Given the description of an element on the screen output the (x, y) to click on. 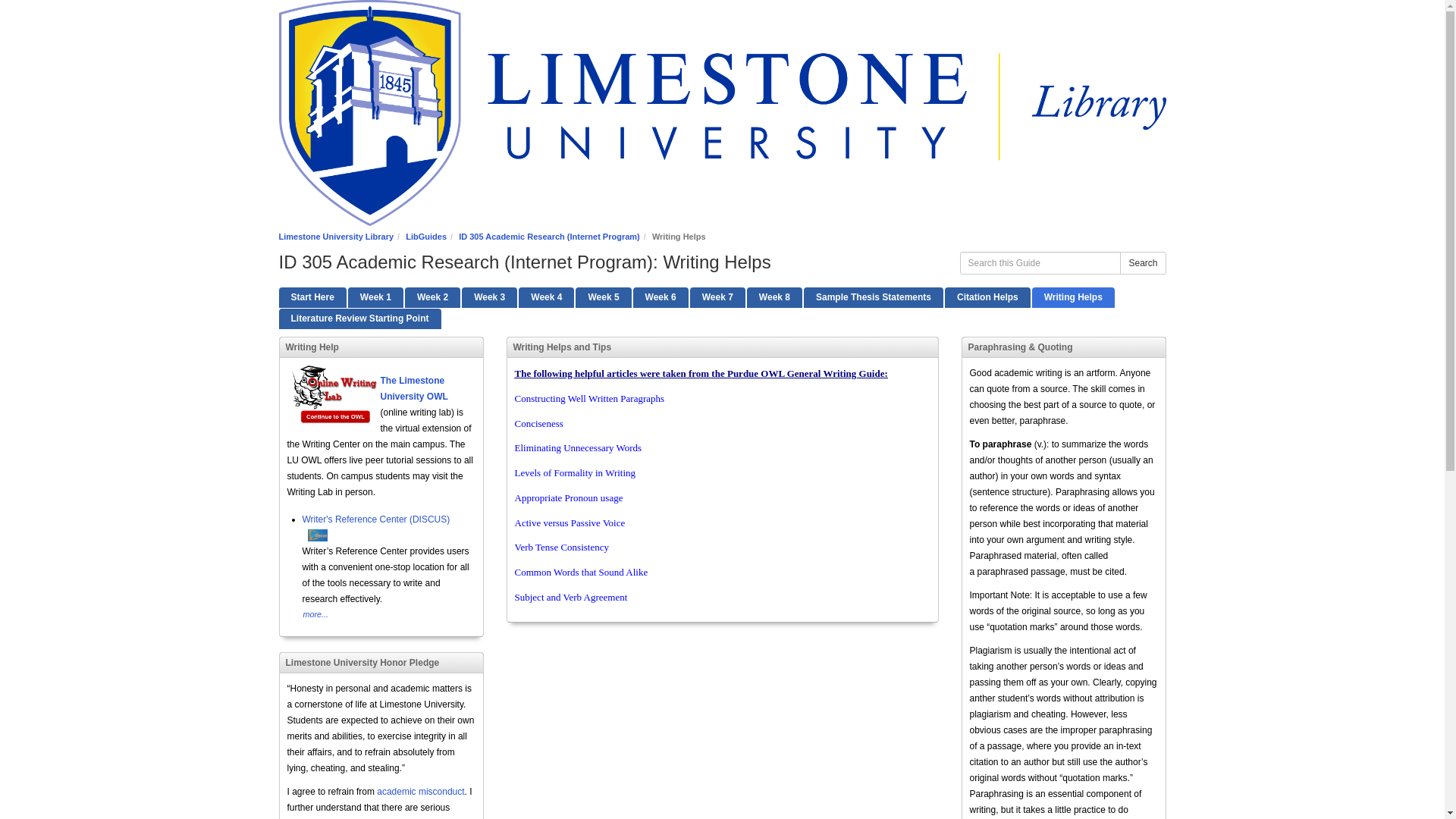
Week 4 (545, 297)
Writing Helps (1073, 297)
Week 5 (602, 297)
Start Here (312, 297)
Common Words that Sound Alike (580, 572)
Search (1142, 262)
Citation Helps (987, 297)
LibGuides (426, 235)
Conciseness (537, 423)
Week 3 (488, 297)
